Given the description of an element on the screen output the (x, y) to click on. 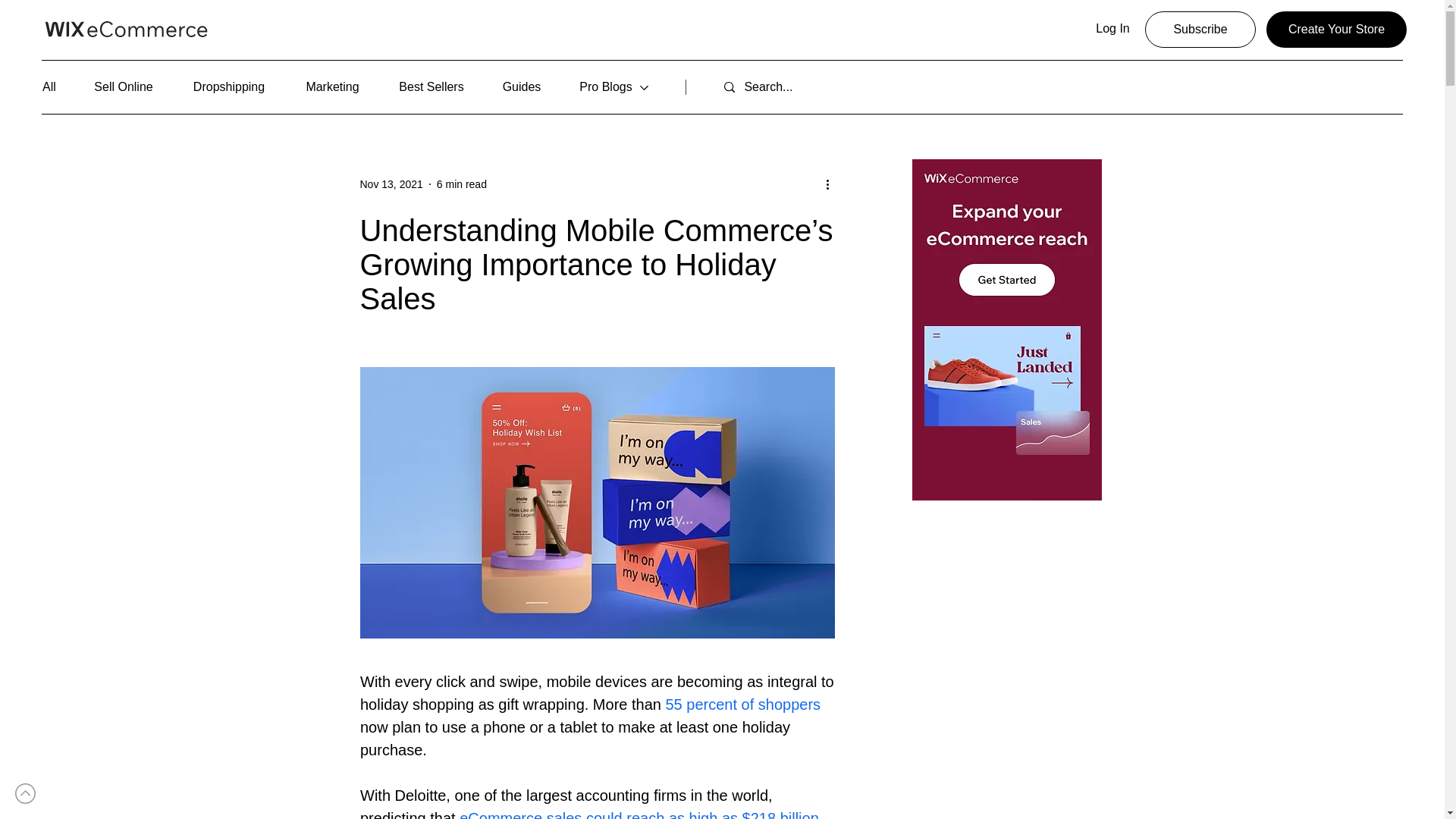
Guides (521, 87)
Marketing (332, 87)
Dropshipping (229, 87)
55 percent of shoppers (743, 704)
6 min read (461, 183)
Sell Online (123, 87)
Subscribe (1199, 29)
All (58, 87)
Best Sellers (431, 87)
Log In (1113, 29)
Create Your Store (1336, 29)
Nov 13, 2021 (390, 183)
